Given the description of an element on the screen output the (x, y) to click on. 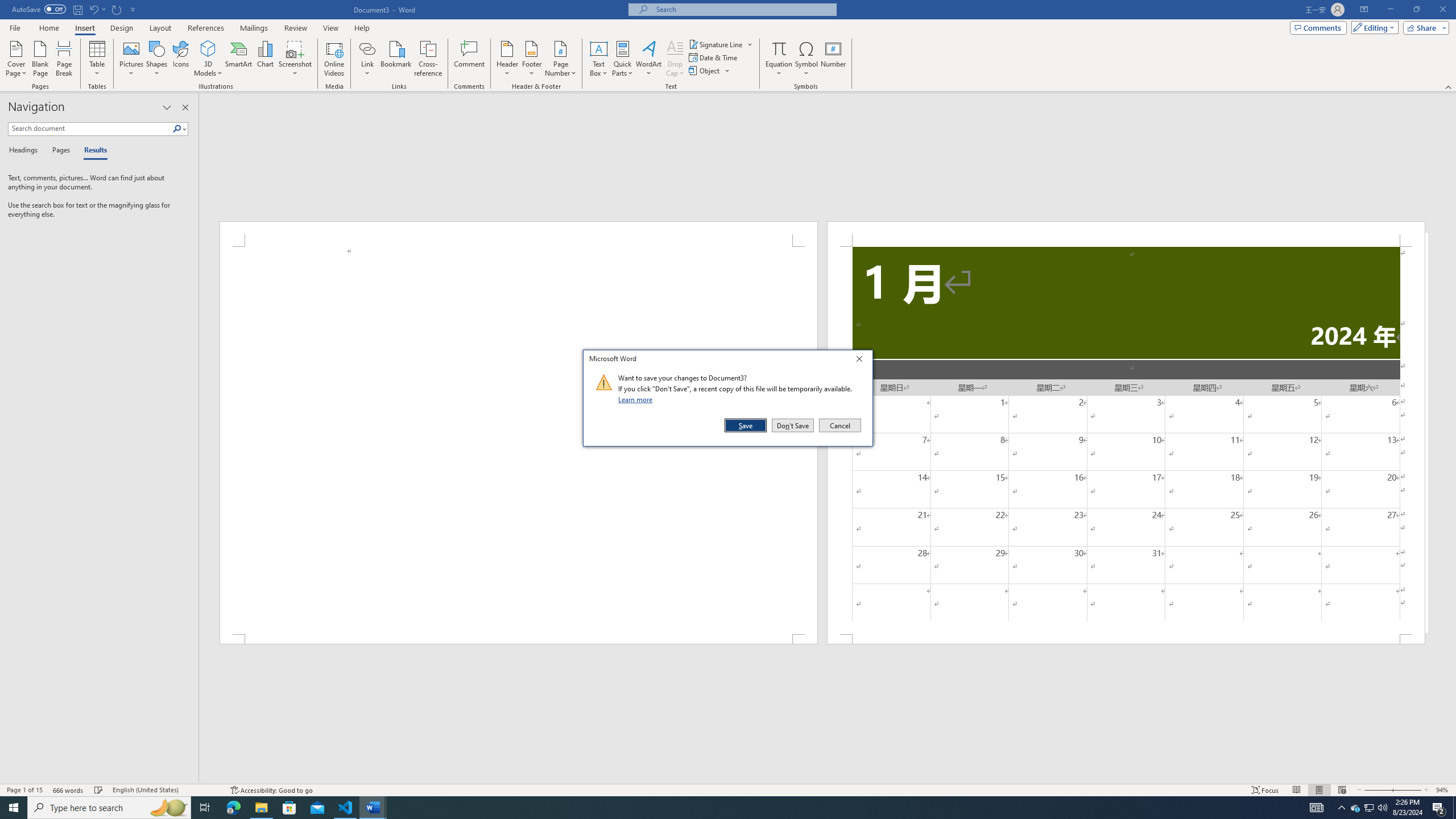
Learn more (636, 399)
Undo New Page (92, 9)
AutomationID: 4105 (1316, 807)
Results (91, 150)
Equation (778, 48)
Icons (180, 58)
Pages (59, 150)
Cover Page (16, 58)
SmartArt... (238, 58)
Screenshot (295, 58)
Signature Line (716, 44)
